Given the description of an element on the screen output the (x, y) to click on. 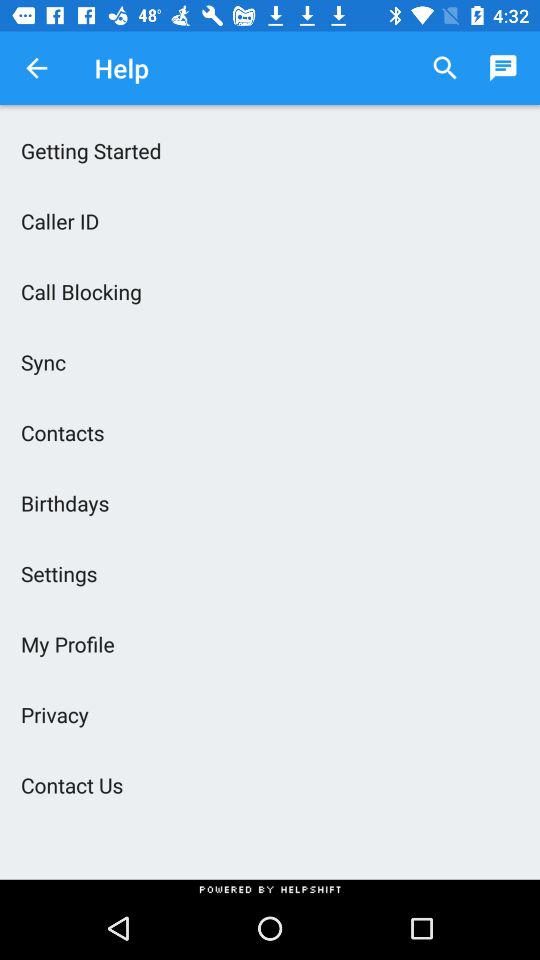
select the getting started icon (270, 150)
